Given the description of an element on the screen output the (x, y) to click on. 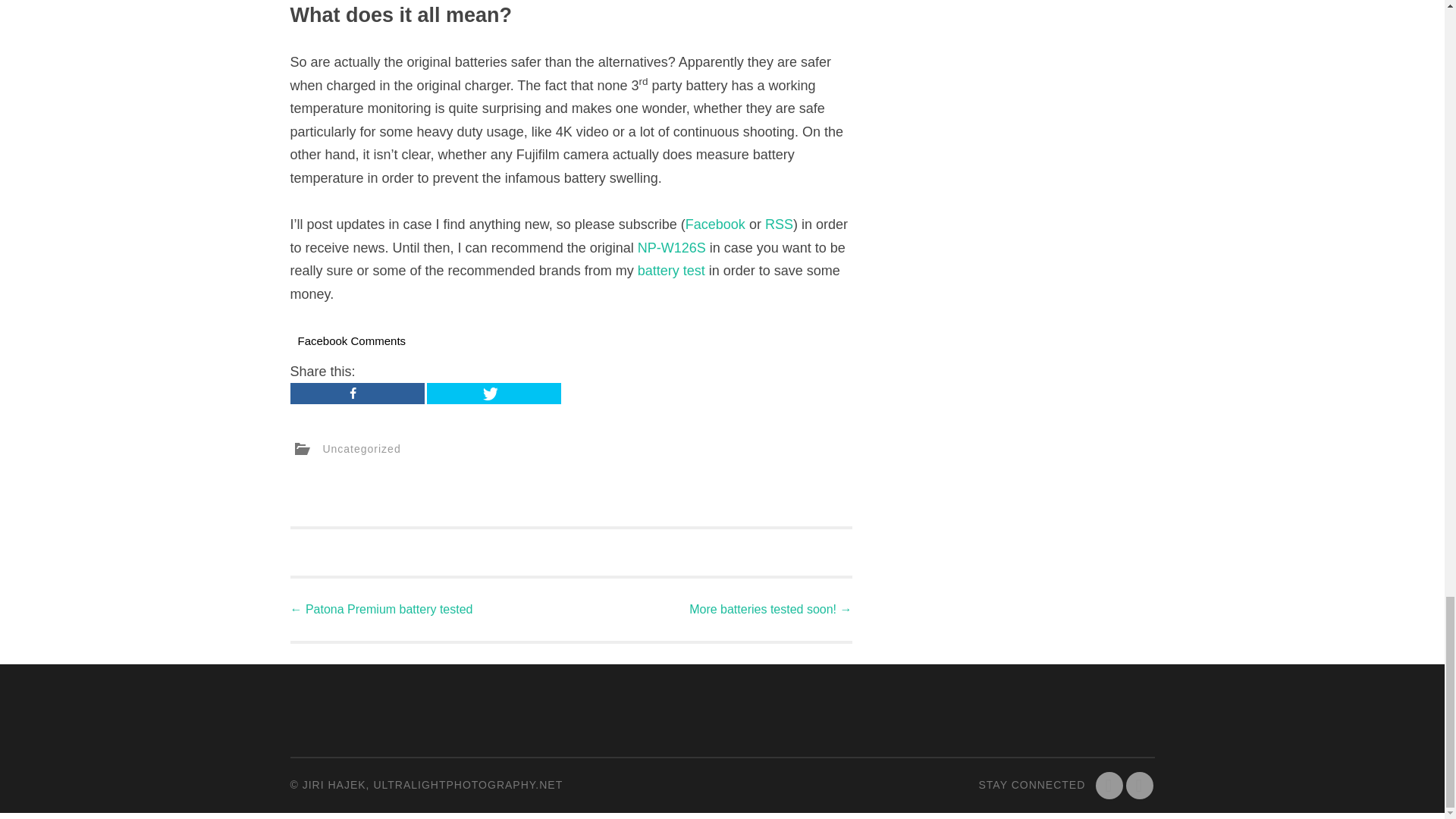
RSS (1139, 785)
Facebook (715, 224)
Share (356, 393)
Tweet (493, 393)
NP-W126S (671, 247)
Facebook (1108, 785)
RSS (779, 224)
Uncategorized (360, 449)
battery test (670, 270)
